Given the description of an element on the screen output the (x, y) to click on. 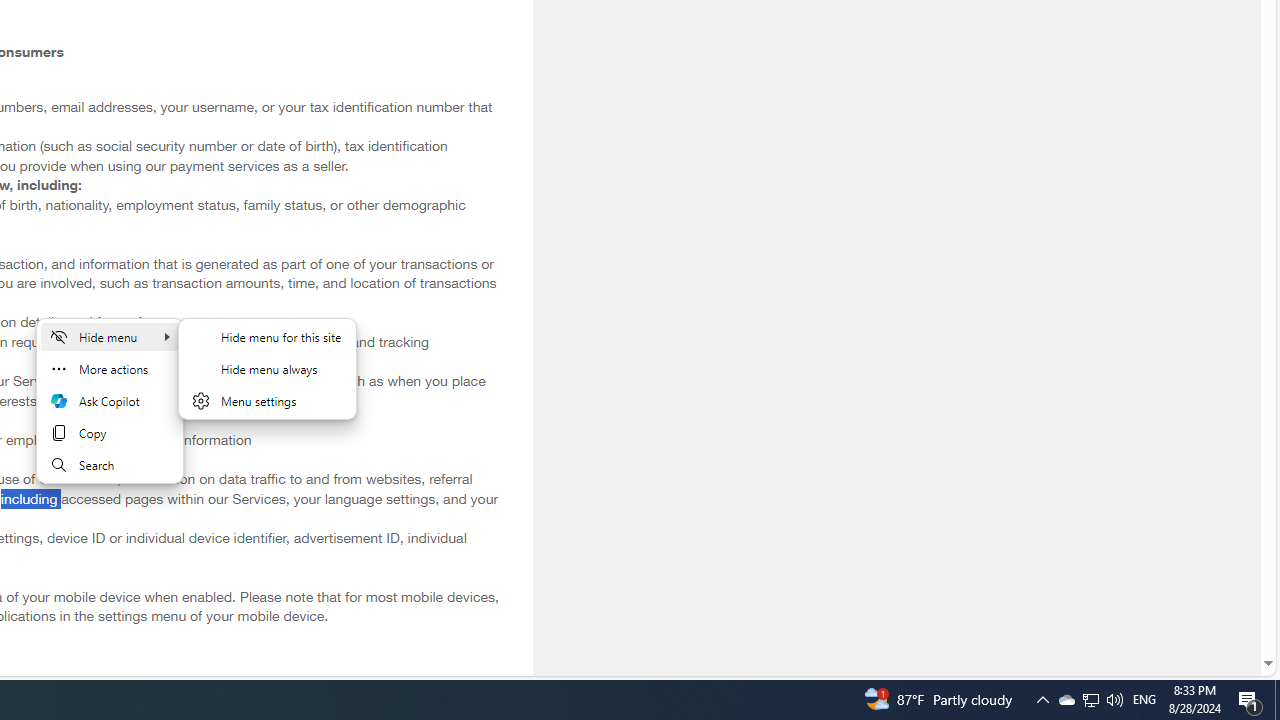
Hide menu (267, 368)
Mini menu on text selection (109, 412)
Hide menu (267, 380)
More actions (110, 368)
Copy (110, 432)
Menu settings (267, 400)
Hide menu for this site (267, 336)
Hide menu always (267, 368)
Ask Copilot (110, 400)
Mini menu on text selection (110, 400)
Hide menu (110, 336)
